Given the description of an element on the screen output the (x, y) to click on. 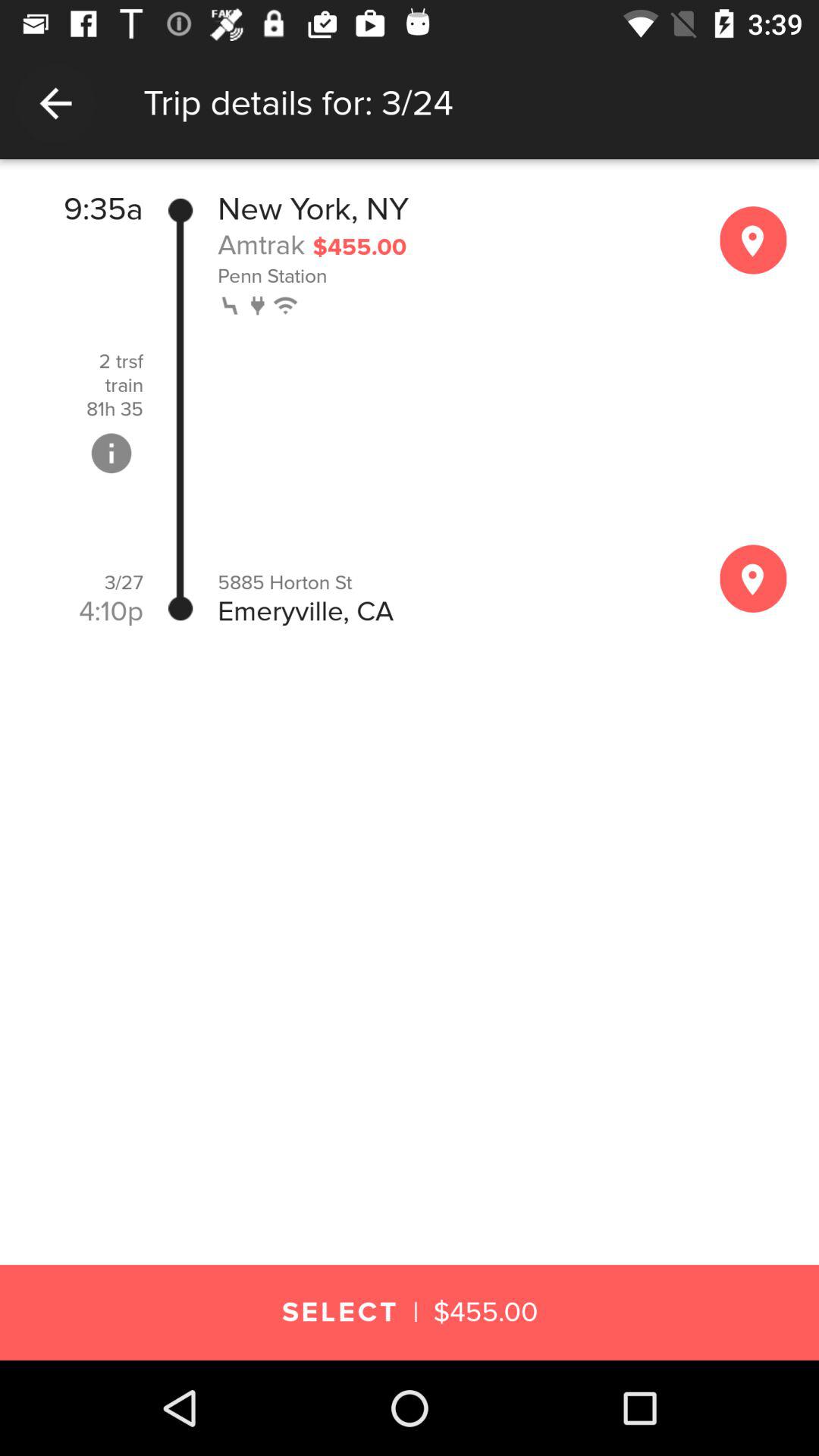
open item to the left of the new york, ny item (180, 409)
